Given the description of an element on the screen output the (x, y) to click on. 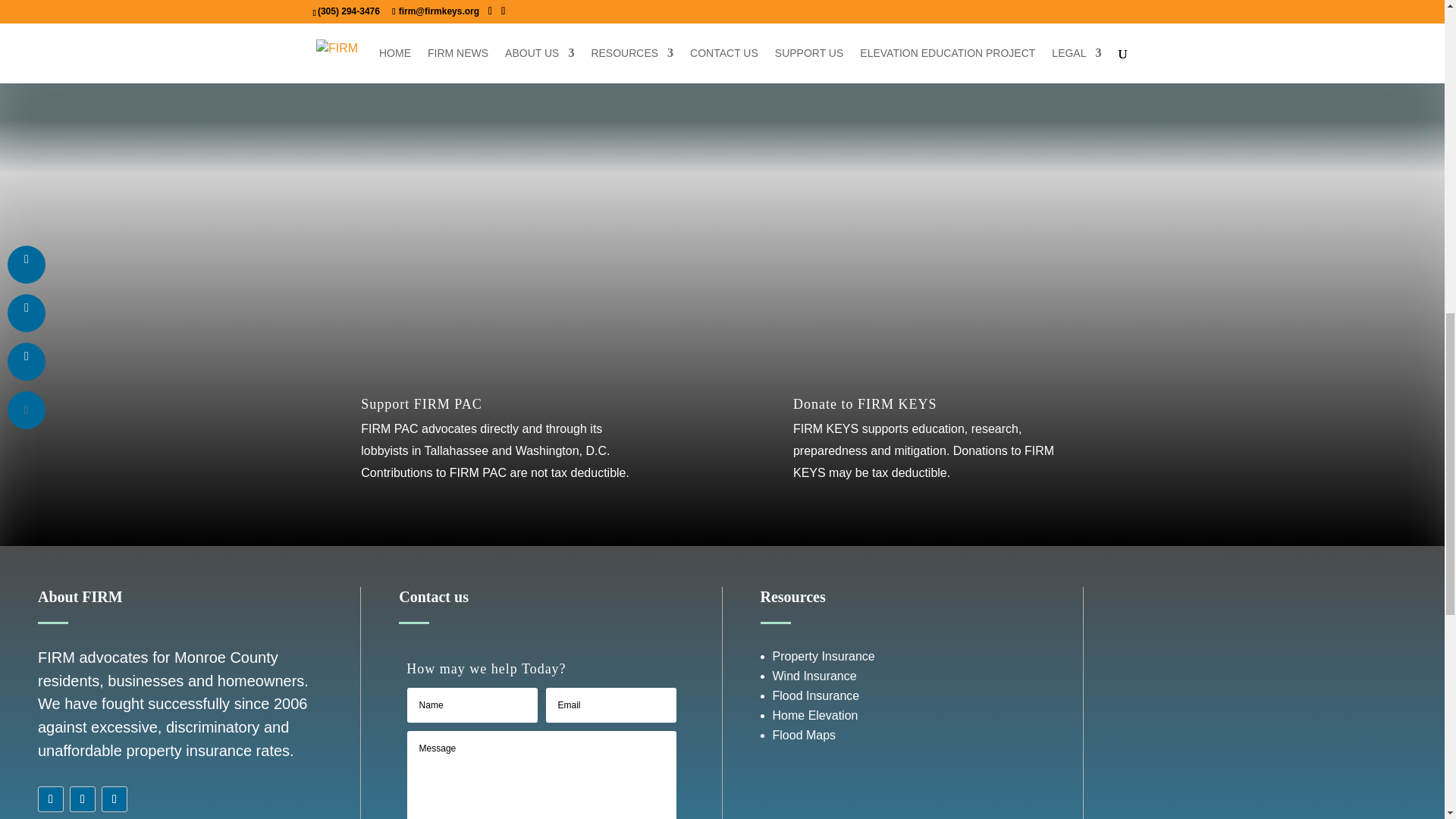
Follow on Instagram (82, 799)
Donate to FIRM KEYS (865, 403)
Follow on LinkedIn (114, 799)
Follow on Facebook (50, 799)
Support FIRM PAC (421, 403)
